Given the description of an element on the screen output the (x, y) to click on. 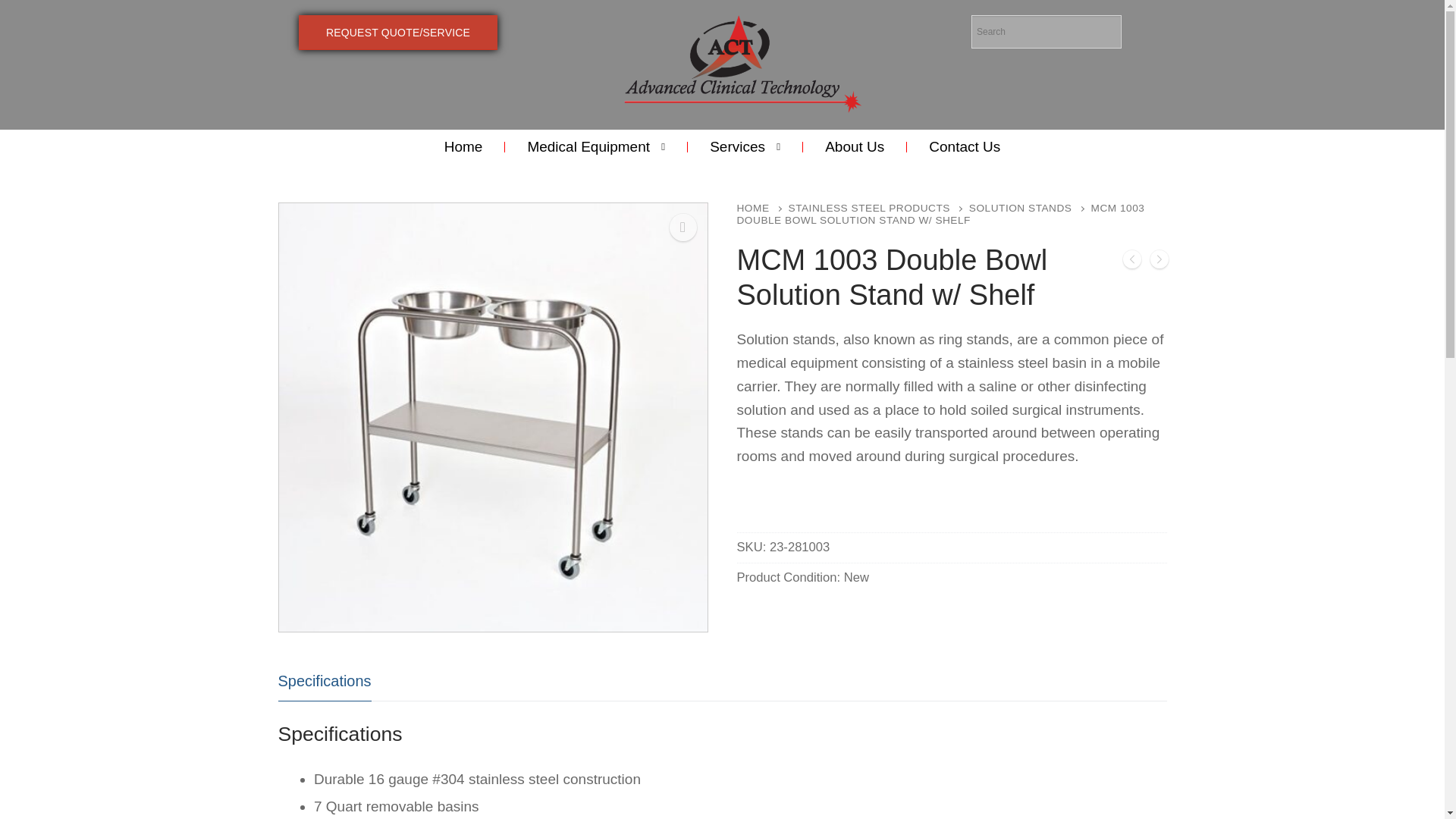
Home (463, 147)
